Given the description of an element on the screen output the (x, y) to click on. 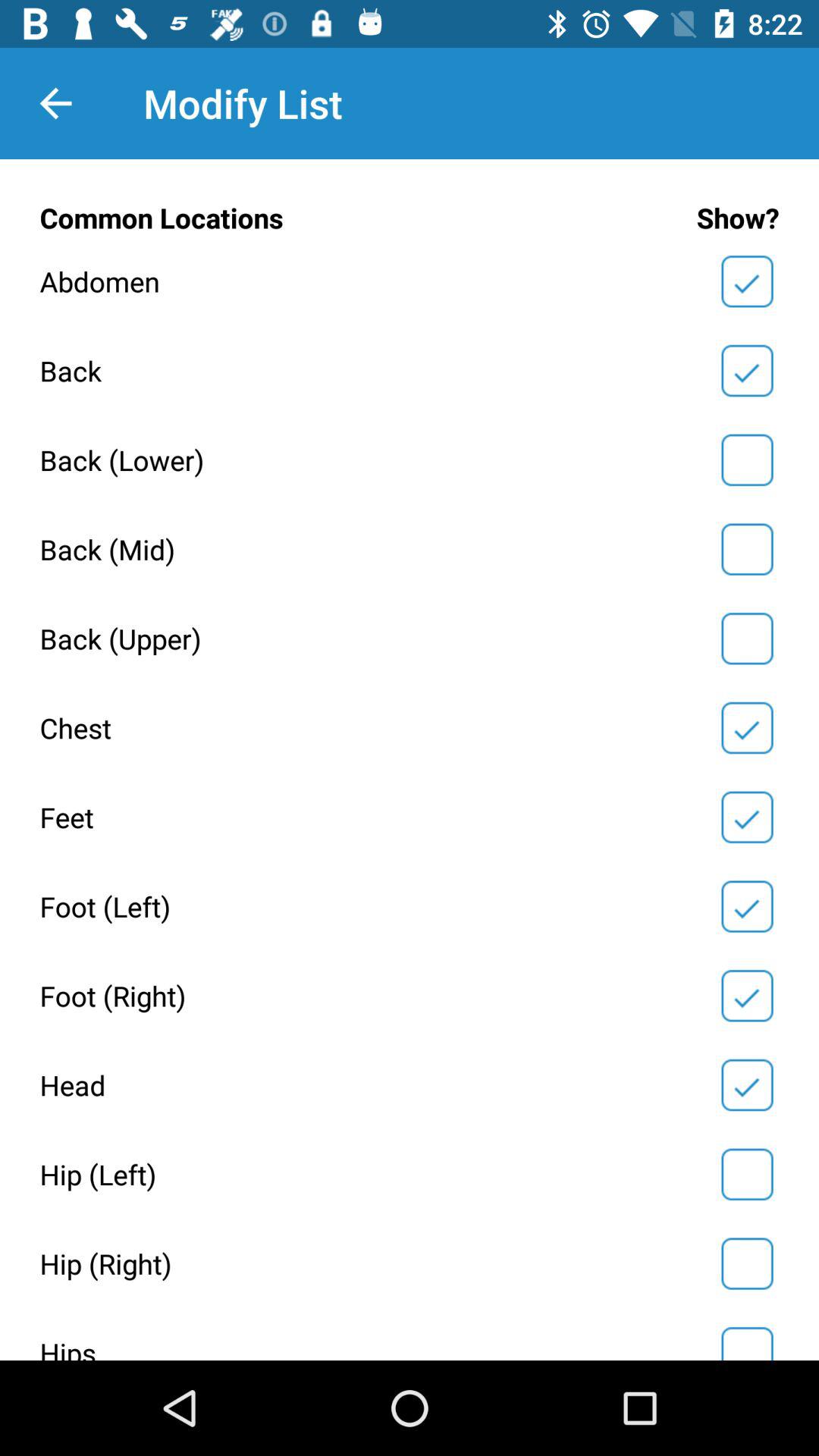
toggle show option (747, 459)
